Given the description of an element on the screen output the (x, y) to click on. 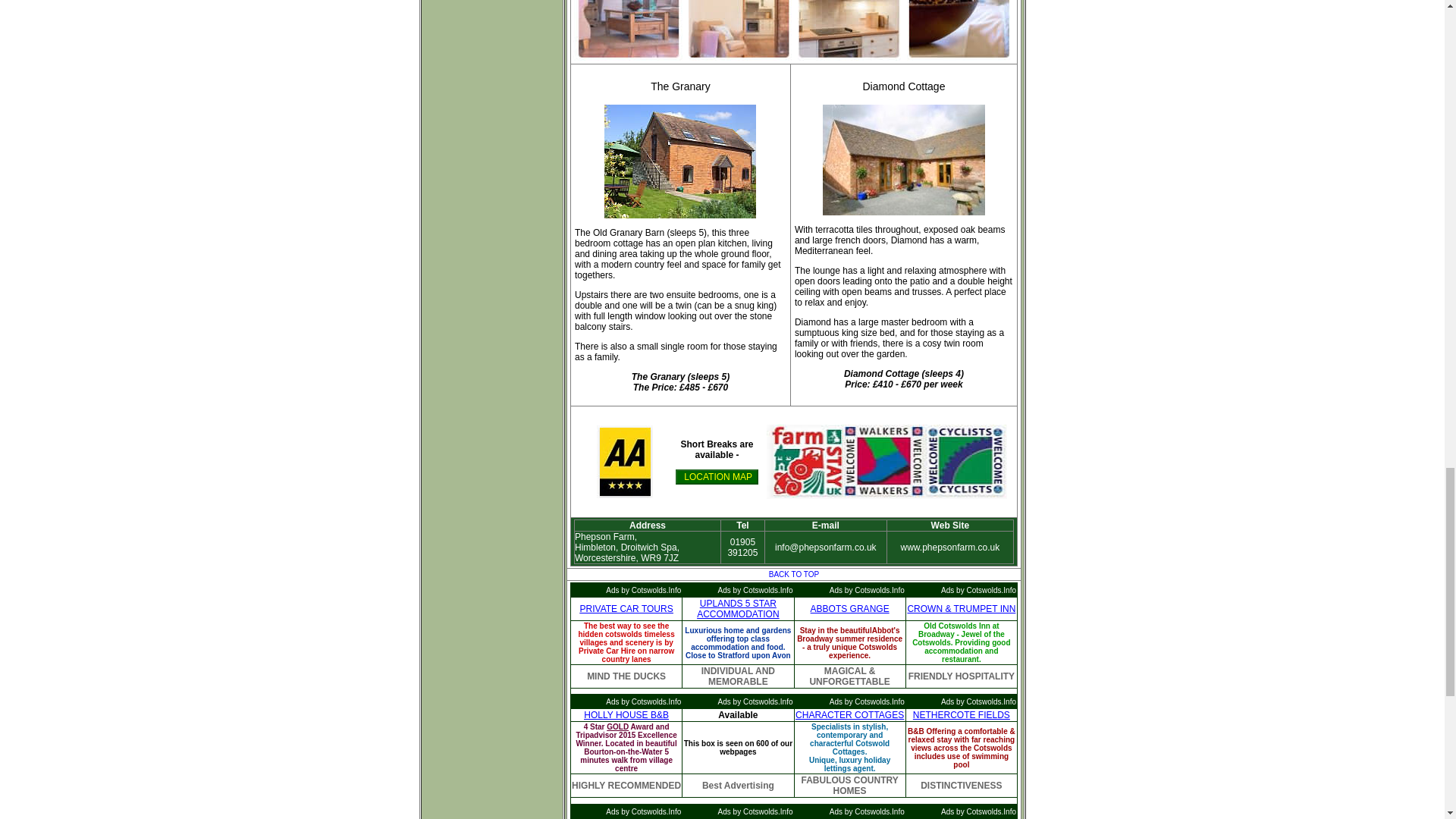
 LOCATION MAP (716, 476)
